Given the description of an element on the screen output the (x, y) to click on. 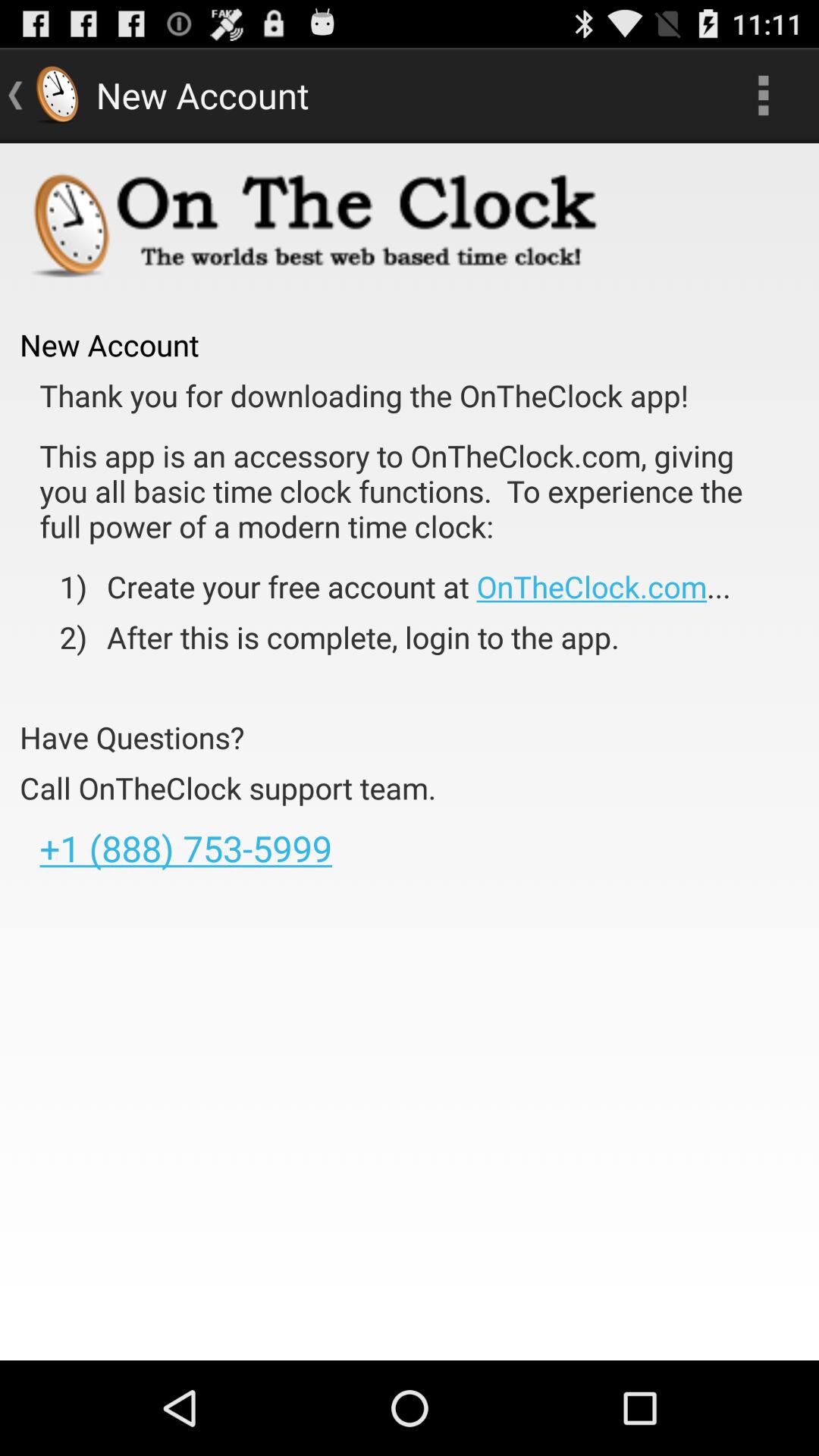
press create your free item (408, 586)
